Given the description of an element on the screen output the (x, y) to click on. 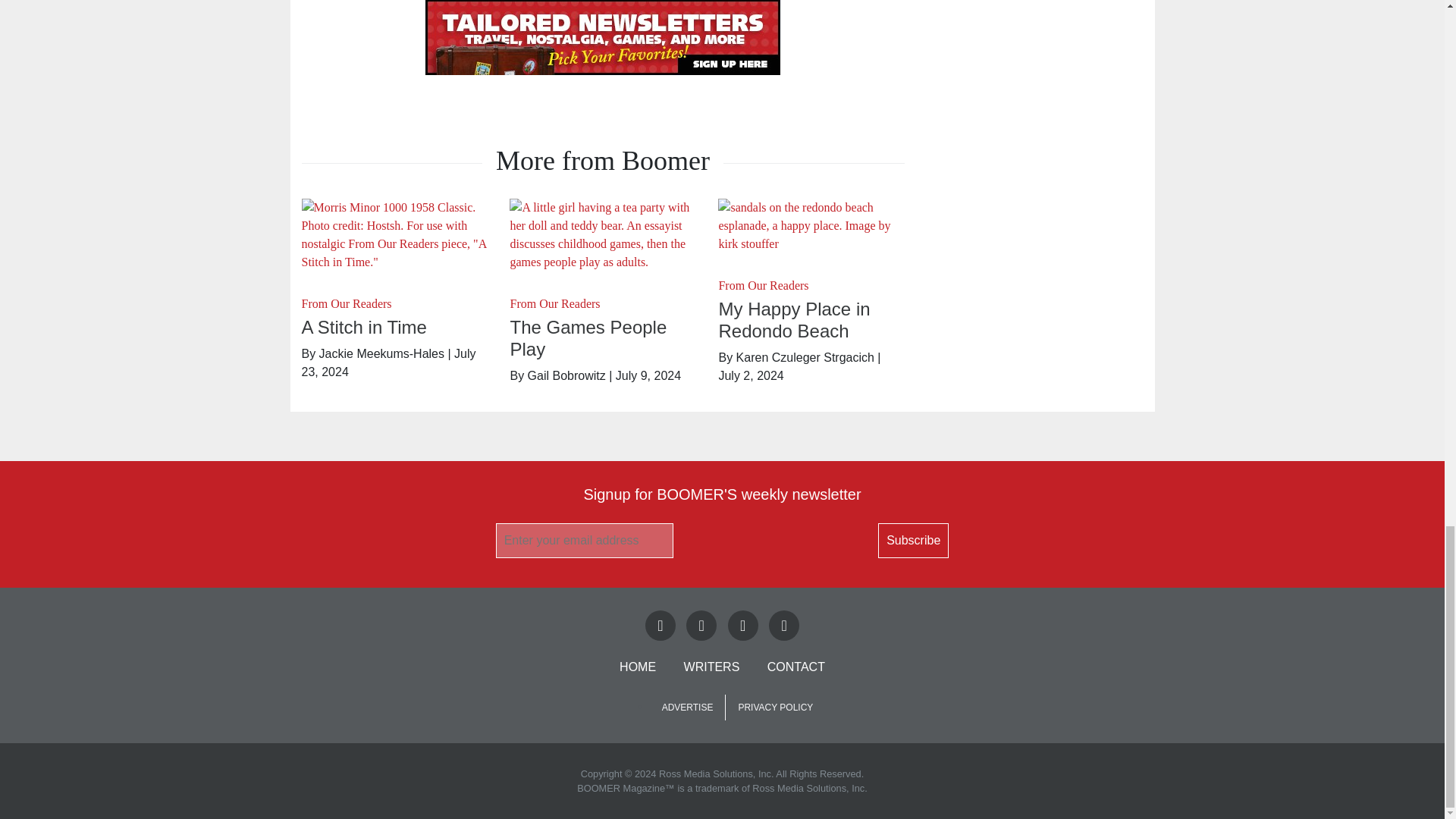
Subscribe (913, 540)
